Given the description of an element on the screen output the (x, y) to click on. 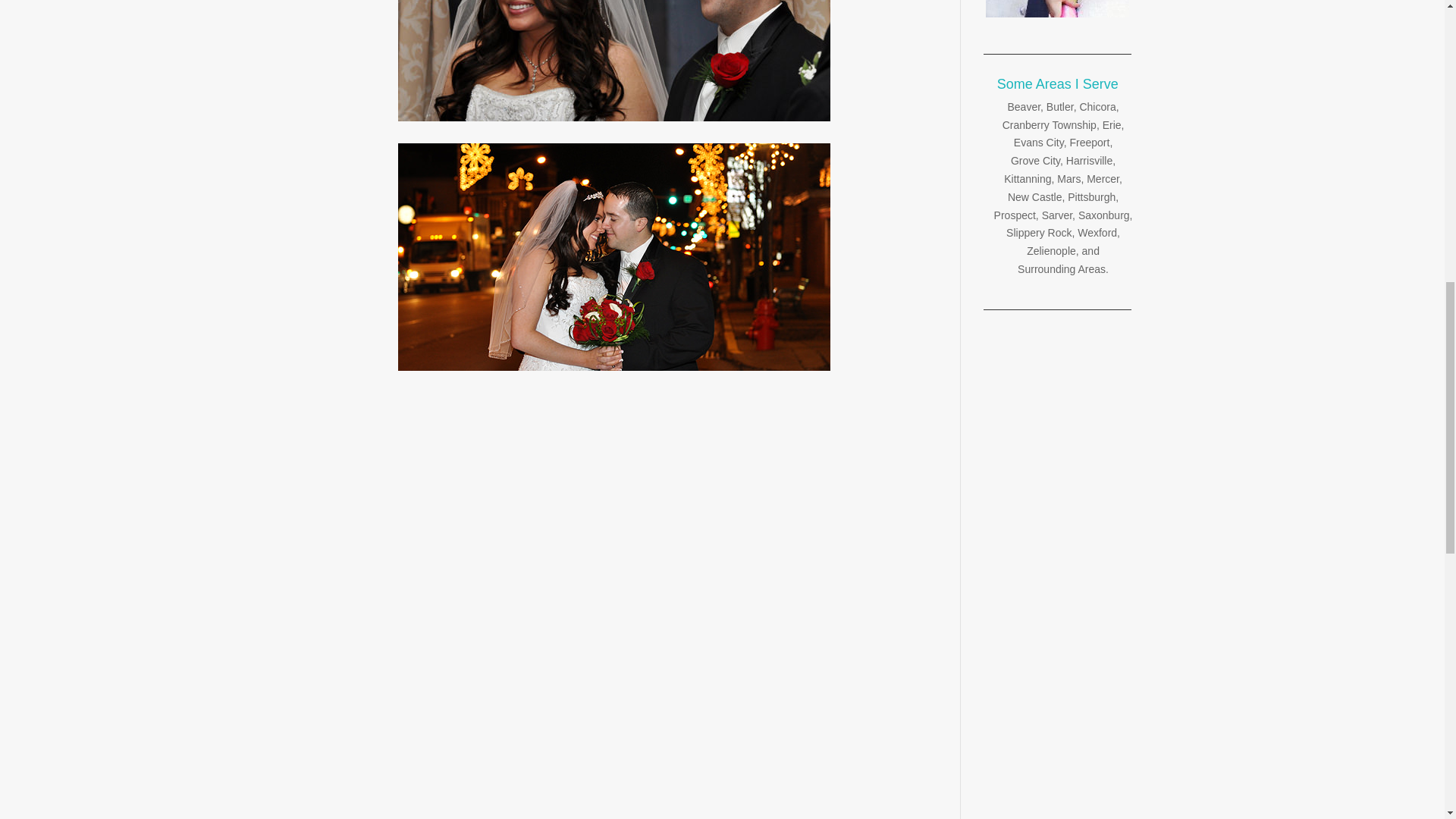
Beaver (1024, 106)
Cranberry Township (1049, 124)
Butler (1060, 106)
Chicora (1096, 106)
